Given the description of an element on the screen output the (x, y) to click on. 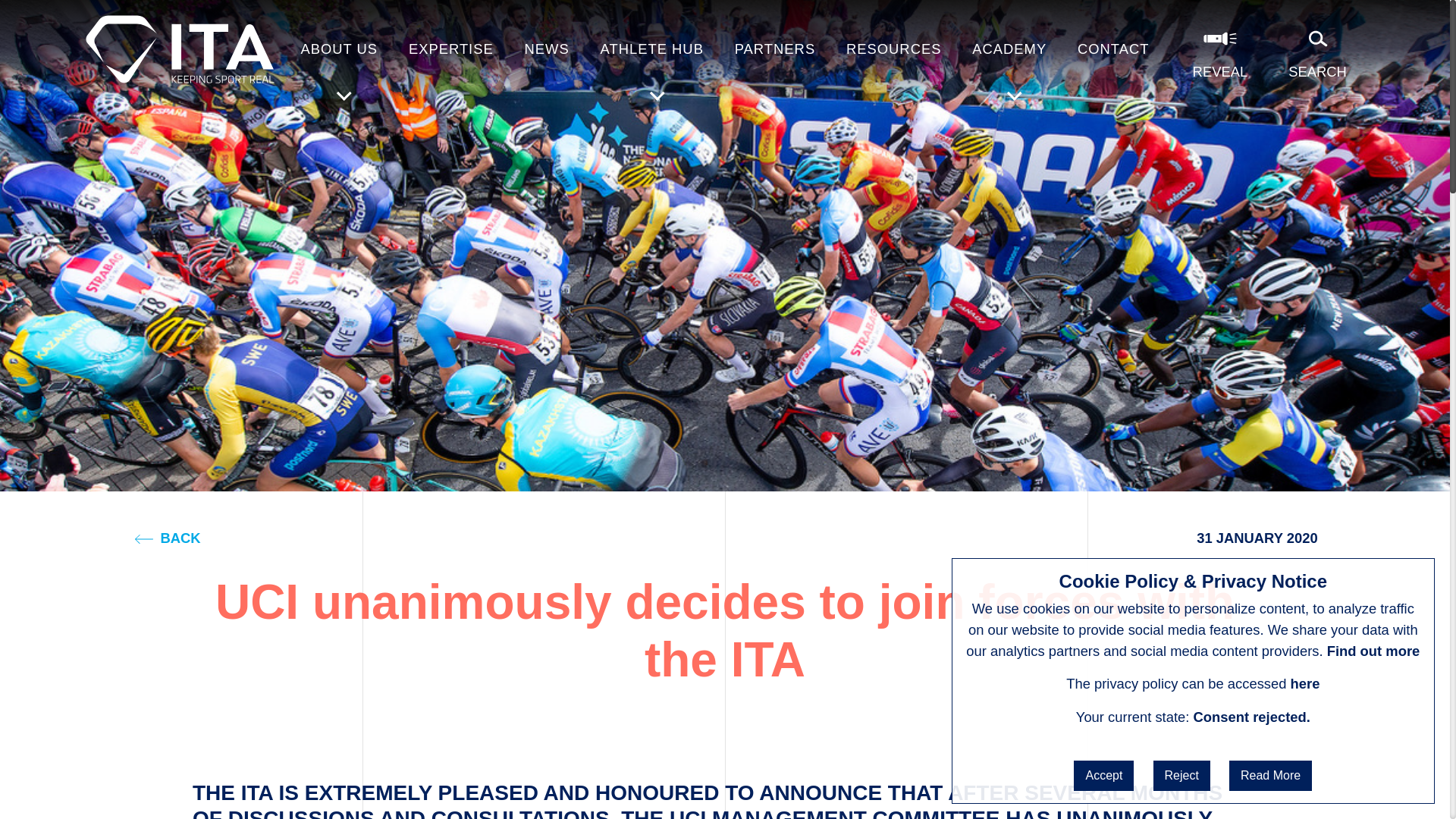
CONTACT (1113, 52)
ABOUT US (338, 52)
ACADEMY (1009, 52)
ATHLETE HUB (651, 52)
RESOURCES (893, 52)
NEWS (546, 52)
PARTNERS (775, 52)
EXPERTISE (451, 52)
